Given the description of an element on the screen output the (x, y) to click on. 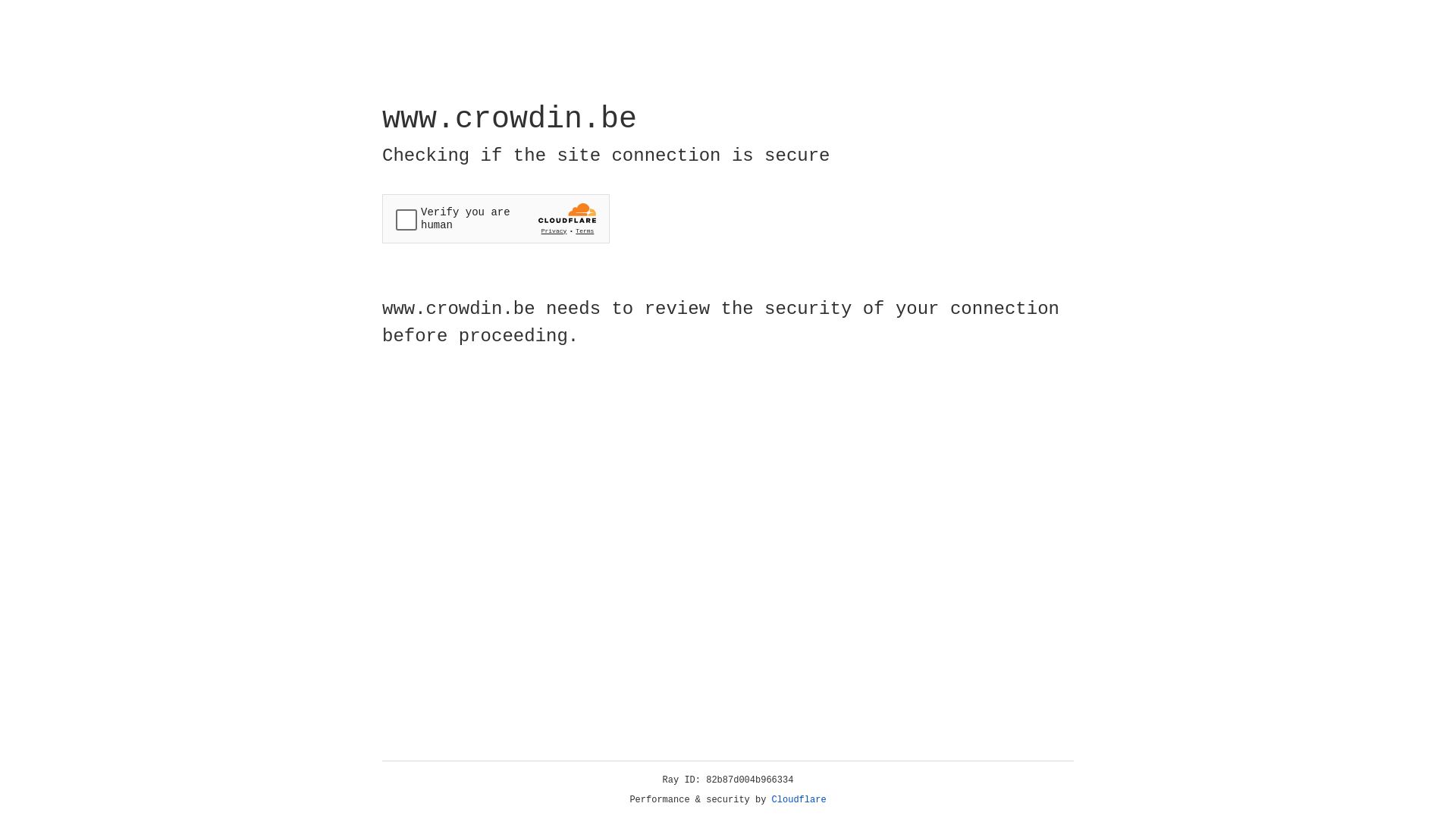
Widget containing a Cloudflare security challenge Element type: hover (495, 218)
Cloudflare Element type: text (798, 799)
